Given the description of an element on the screen output the (x, y) to click on. 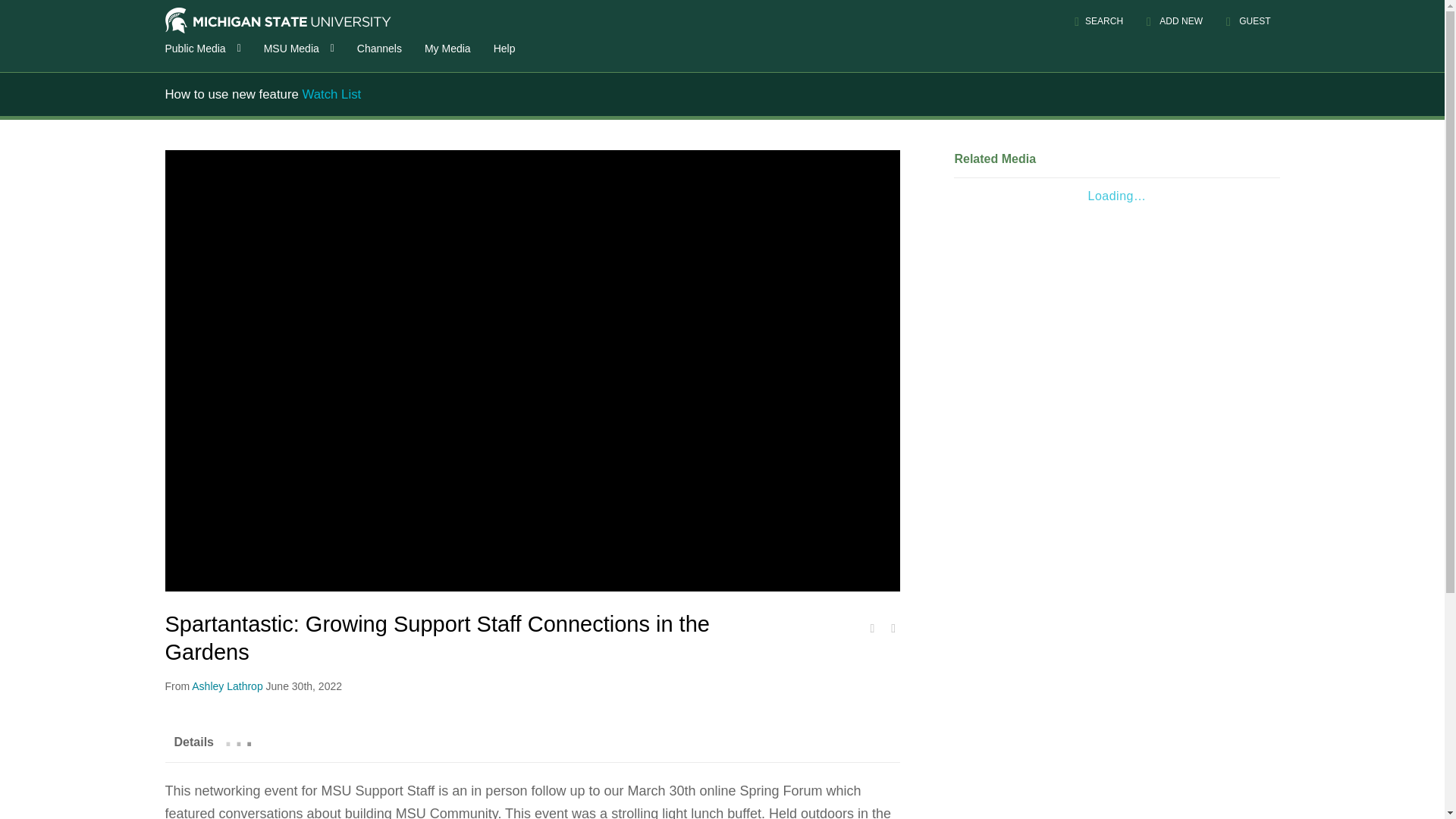
GUEST (1247, 21)
SEARCH (1098, 21)
Public Media (204, 46)
ADD NEW (1174, 21)
